Given the description of an element on the screen output the (x, y) to click on. 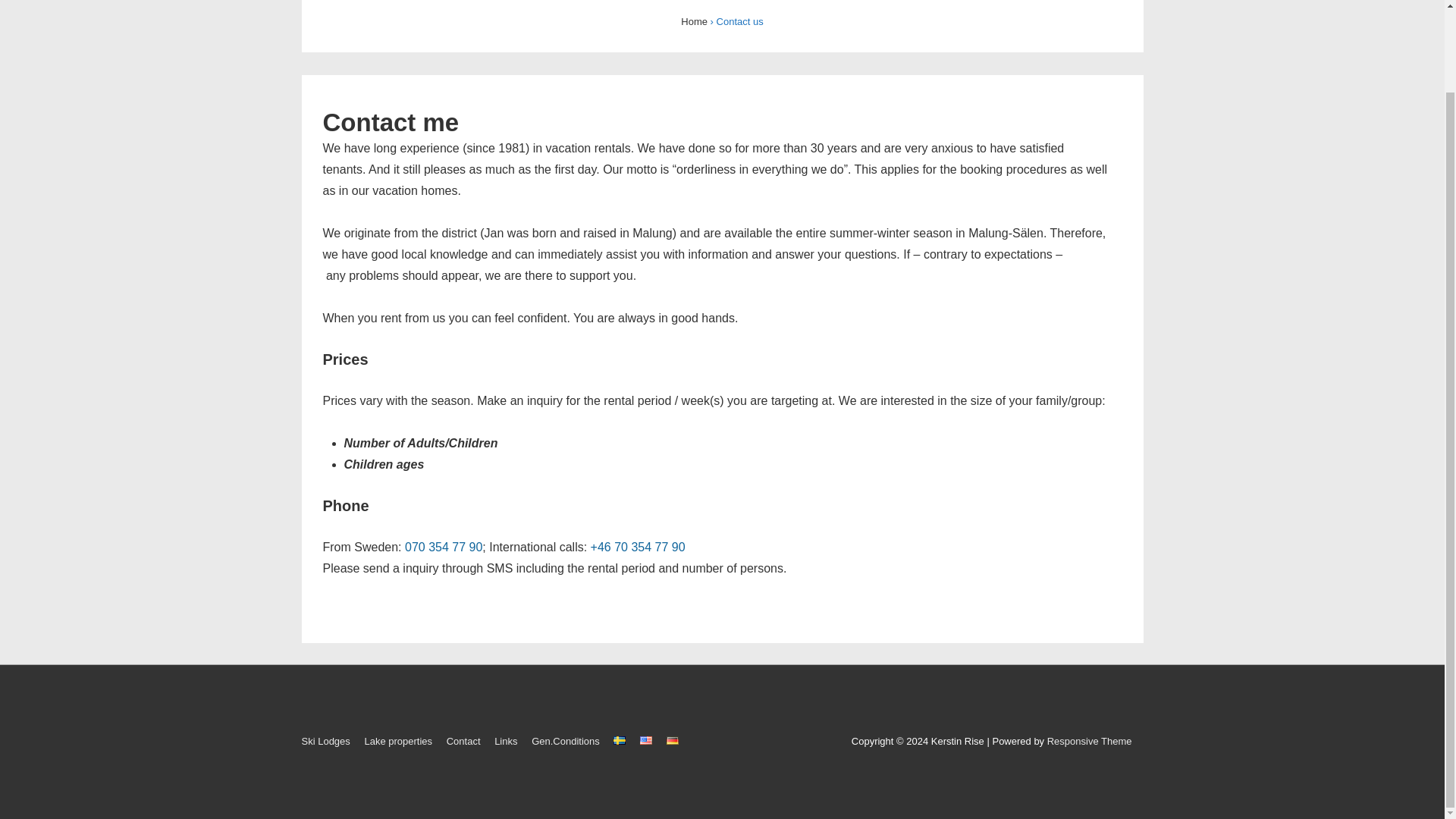
Contact (463, 740)
Lake properties (398, 740)
Gen.Conditions (565, 740)
Ski Lodges (325, 740)
Links (505, 740)
Home (694, 21)
Responsive Theme (1089, 740)
070 354 77 90 (442, 546)
